Given the description of an element on the screen output the (x, y) to click on. 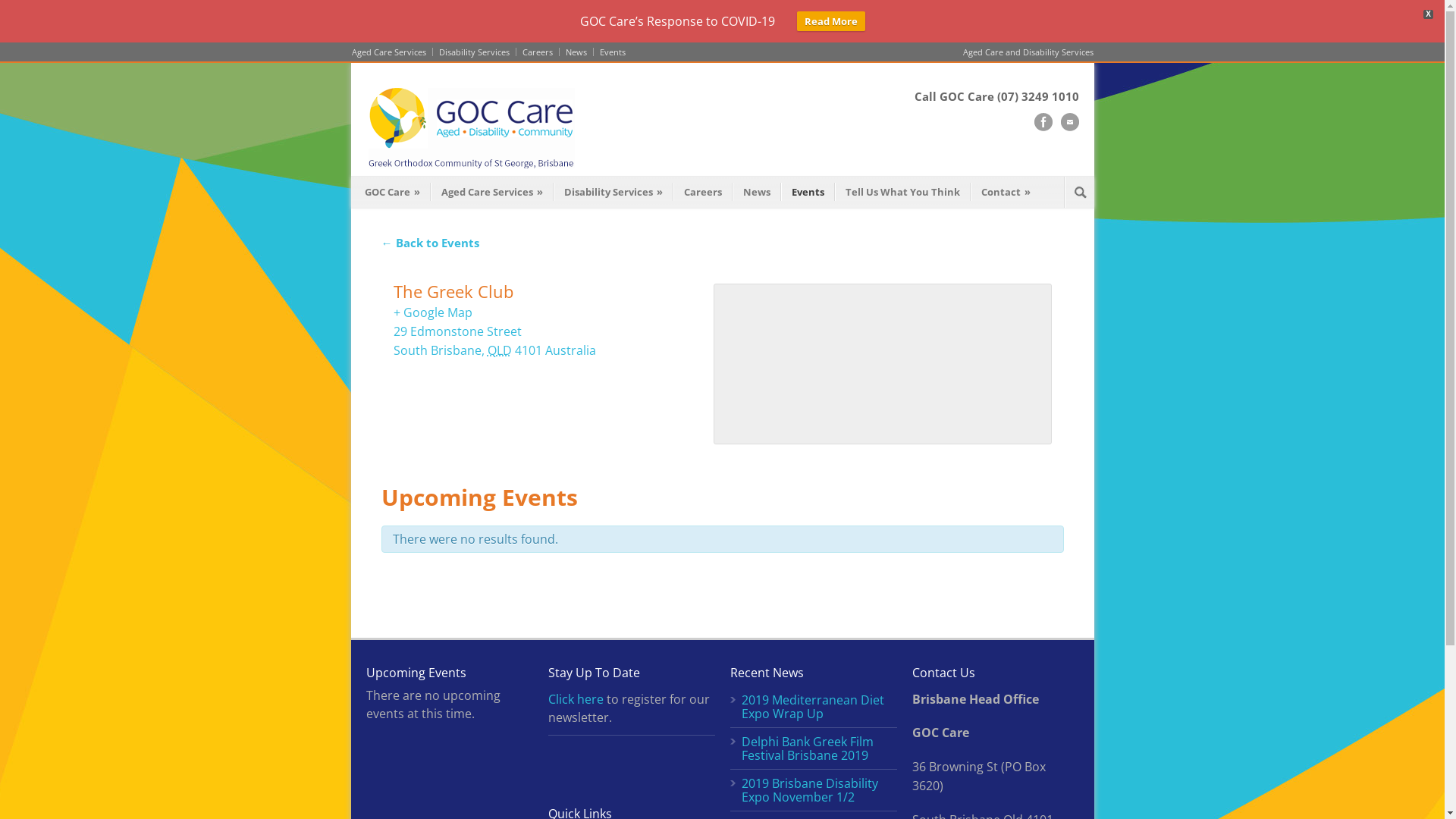
Careers Element type: text (702, 191)
Disability Services Element type: text (473, 51)
Click here Element type: text (574, 698)
Events Element type: text (807, 191)
+ Google Map Element type: text (431, 312)
2019 Mediterranean Diet Expo Wrap Up Element type: text (812, 706)
Aged Care Services Element type: text (392, 51)
News Element type: text (756, 191)
Read More Element type: text (830, 21)
2019 Brisbane Disability Expo November 1/2 Element type: text (809, 790)
Careers Element type: text (536, 51)
Delphi Bank Greek Film Festival Brisbane 2019 Element type: text (807, 748)
Tell Us What You Think Element type: text (901, 191)
Events Element type: text (608, 51)
News Element type: text (576, 51)
